Given the description of an element on the screen output the (x, y) to click on. 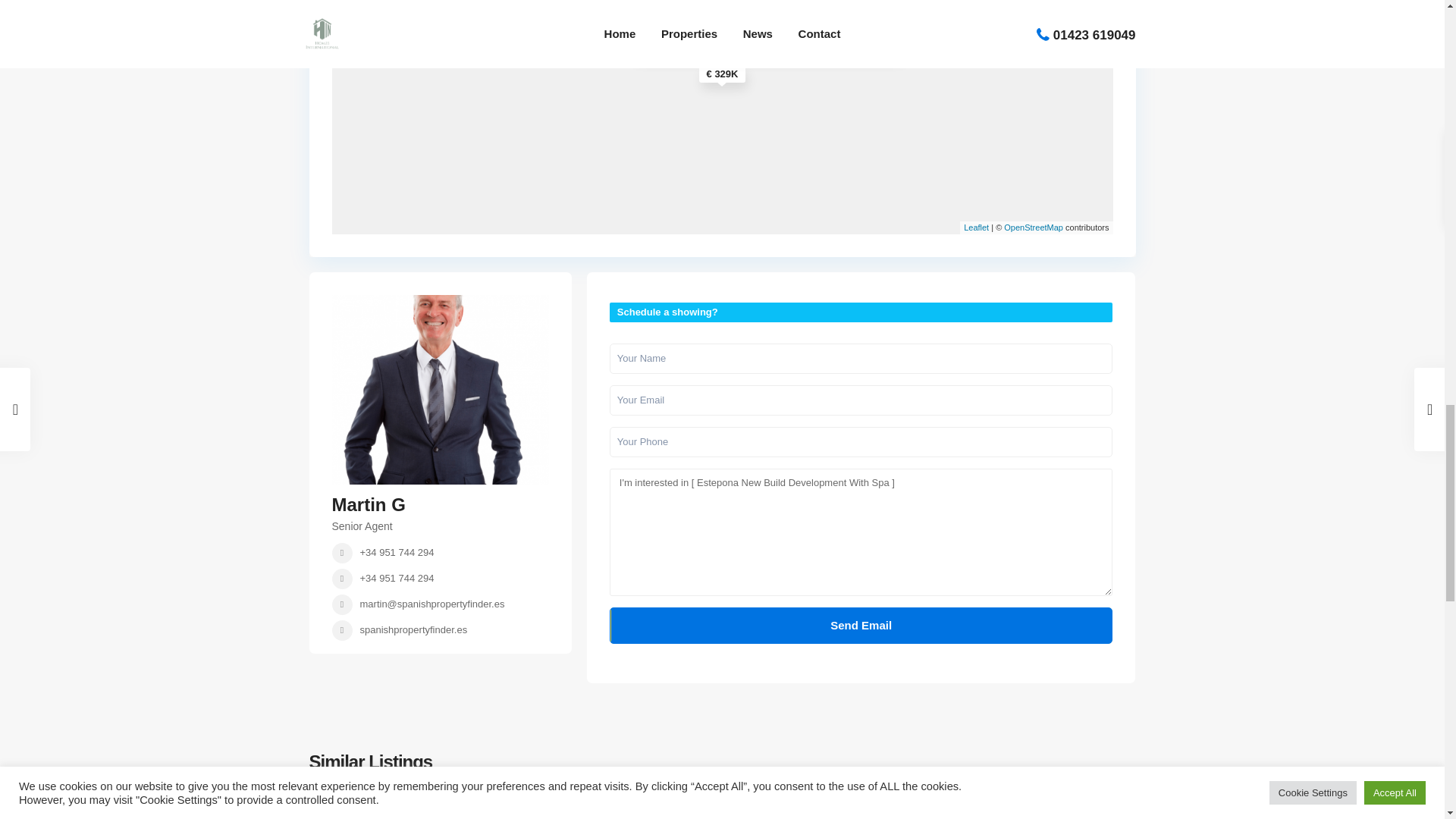
A JS library for interactive maps (975, 226)
Send Email (861, 625)
